Given the description of an element on the screen output the (x, y) to click on. 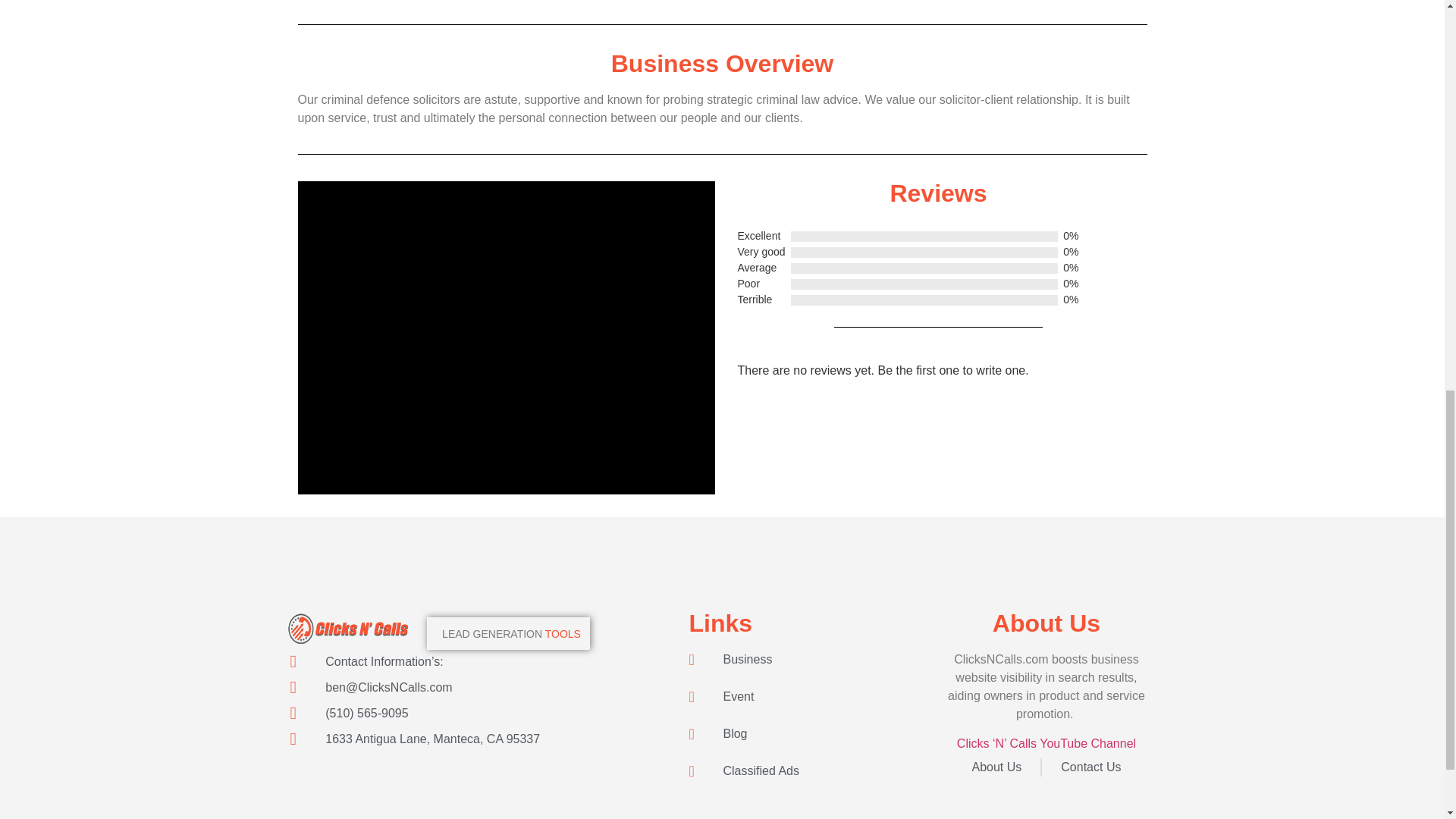
Business (812, 659)
Event (812, 696)
Contact Us (1091, 767)
About Us (996, 767)
Blog (812, 733)
Classified Ads (812, 771)
